Given the description of an element on the screen output the (x, y) to click on. 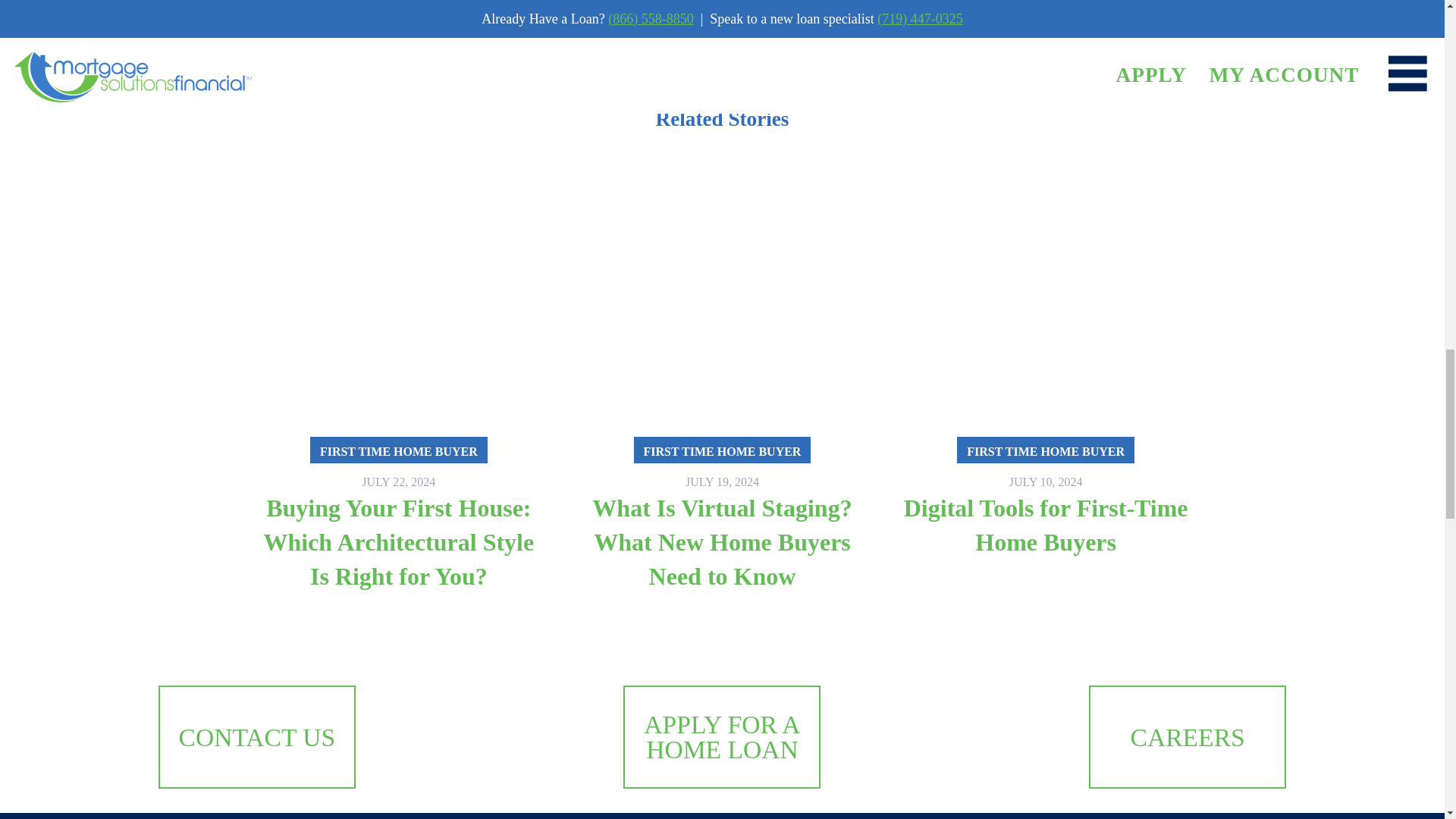
CAREERS (1187, 737)
FIRST TIME HOME BUYER (1045, 449)
Read more (721, 458)
Digital Tools for First-Time Home Buyers (1046, 525)
FIRST TIME HOME BUYER (398, 449)
CONTACT US (256, 737)
FIRST TIME HOME BUYER (721, 449)
APPLY FOR A HOME LOAN (721, 736)
Read more (1045, 458)
First Time Home Buyer (354, 23)
